Given the description of an element on the screen output the (x, y) to click on. 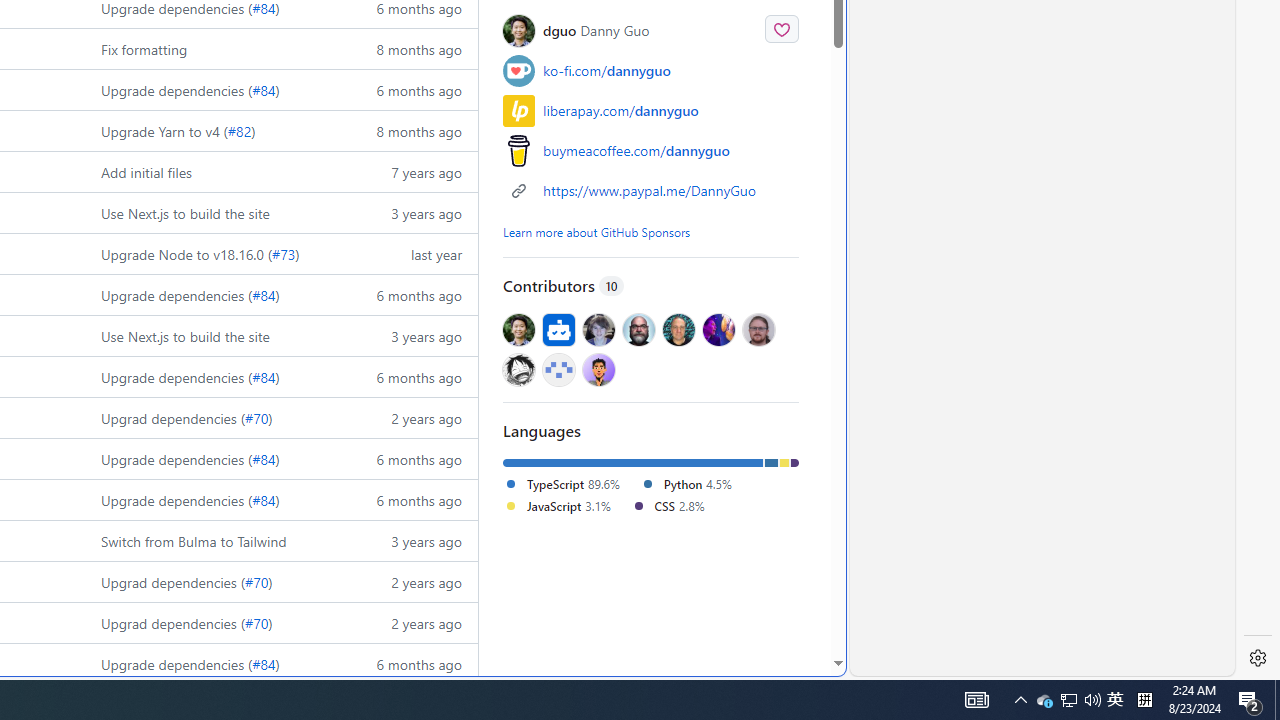
Use Next.js to build the site (212, 335)
2 years ago (409, 621)
liberapay.com/dannyguo (620, 110)
dguo Danny Guo (650, 29)
@mstrzele (558, 368)
@paul-hammant (679, 329)
liberapay.com/dannyguo (650, 110)
liberapay (519, 110)
dguo Danny Guo (596, 30)
Add initial files (146, 172)
buymeacoffee.com/dannyguo (650, 150)
) (277, 663)
https://www.paypal.me/DannyGuo (649, 190)
ko_fi (519, 70)
@web3Gurung (598, 368)
